Given the description of an element on the screen output the (x, y) to click on. 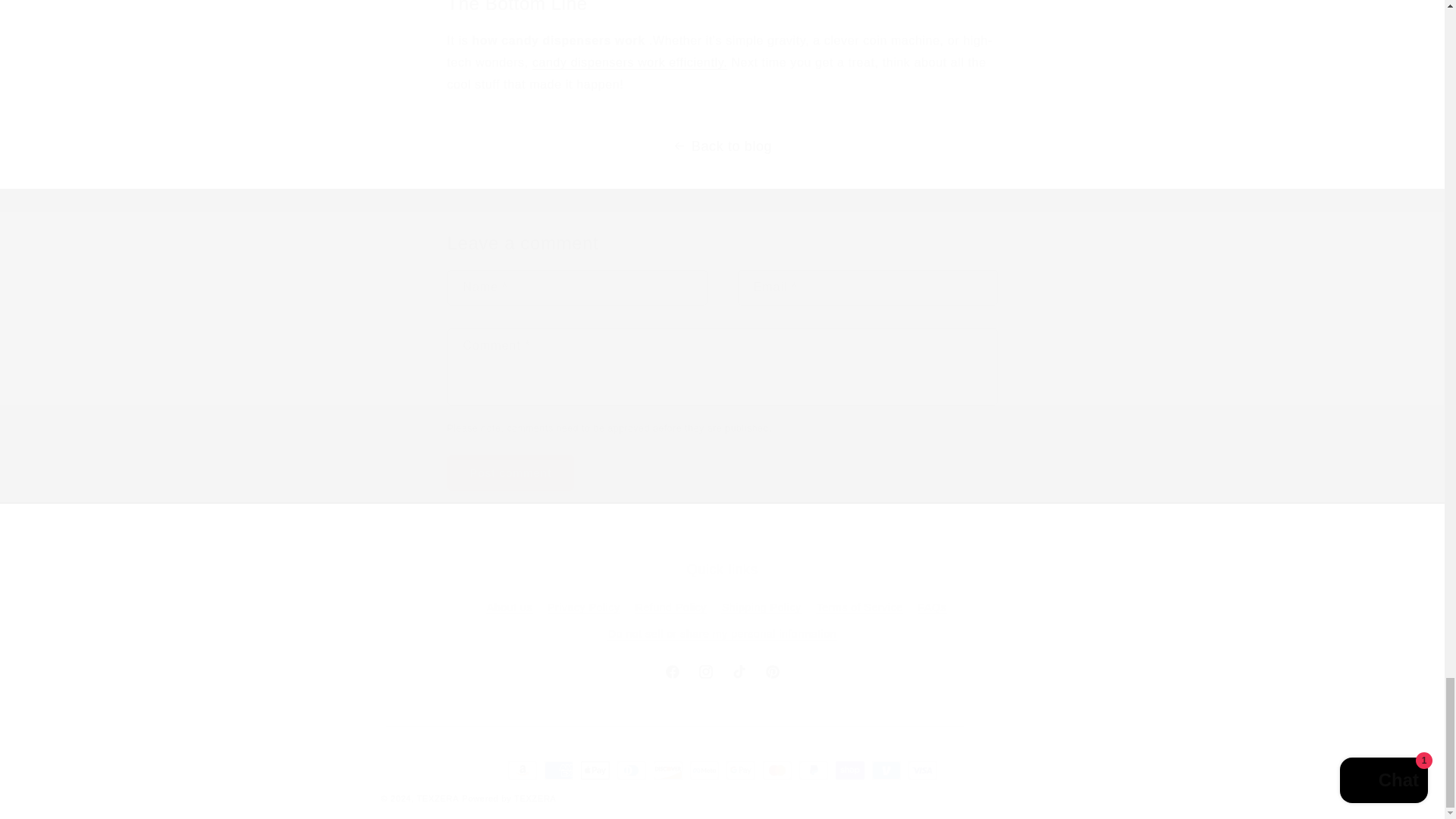
Post comment (510, 472)
